Given the description of an element on the screen output the (x, y) to click on. 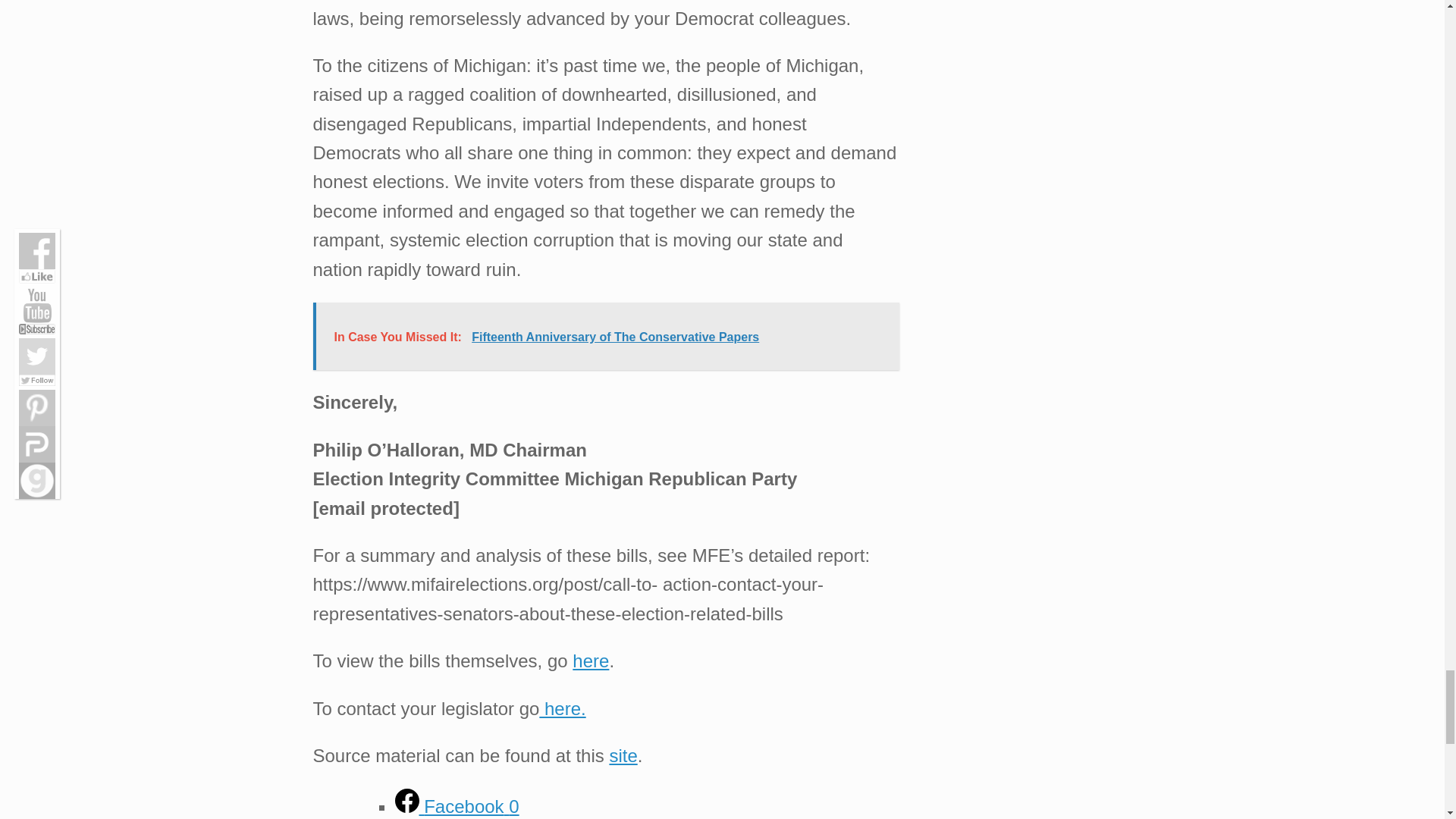
here (590, 660)
Facebook 0 (456, 806)
site (622, 755)
here. (561, 708)
